Given the description of an element on the screen output the (x, y) to click on. 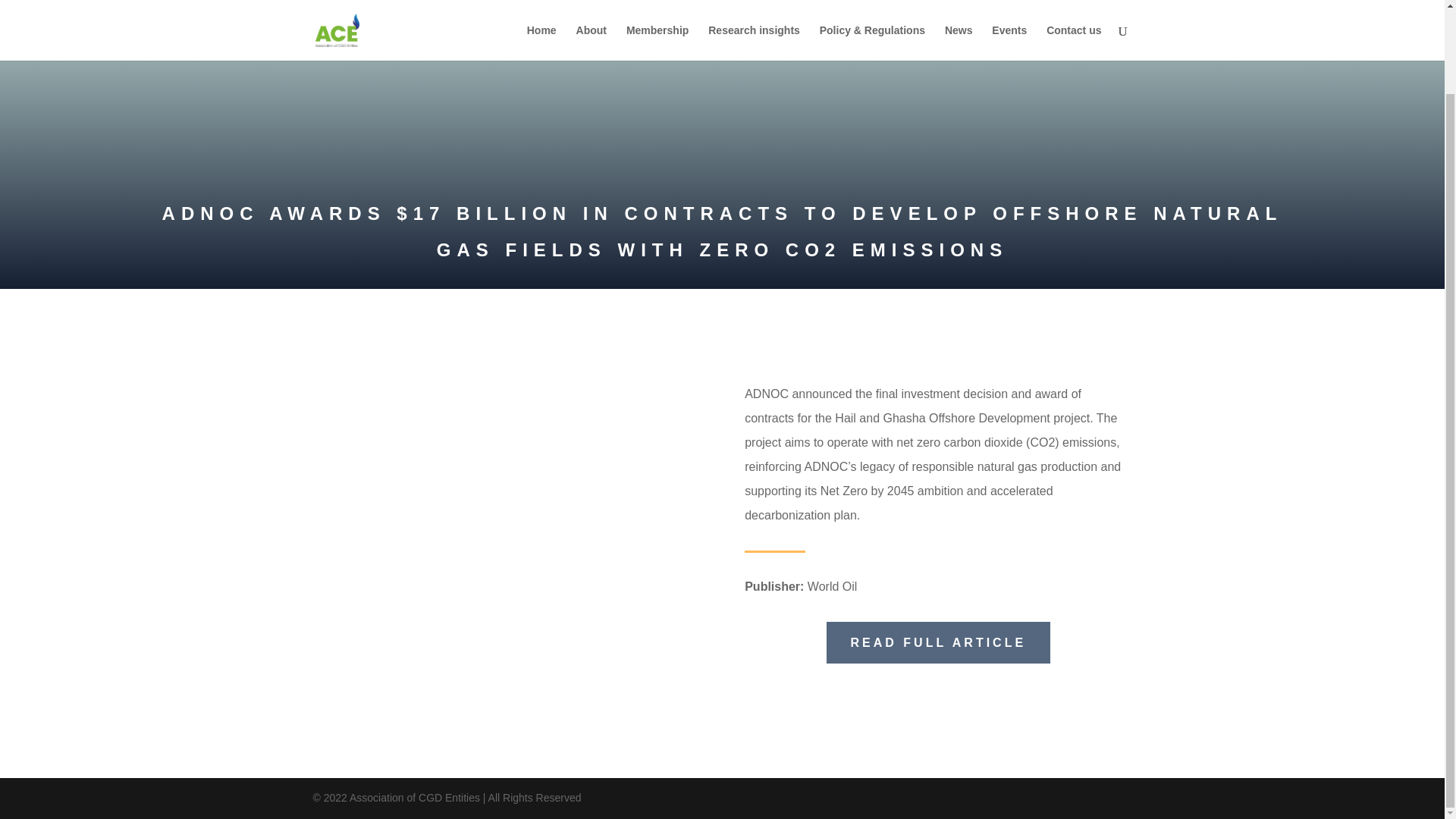
READ FULL ARTICLE (939, 642)
